Given the description of an element on the screen output the (x, y) to click on. 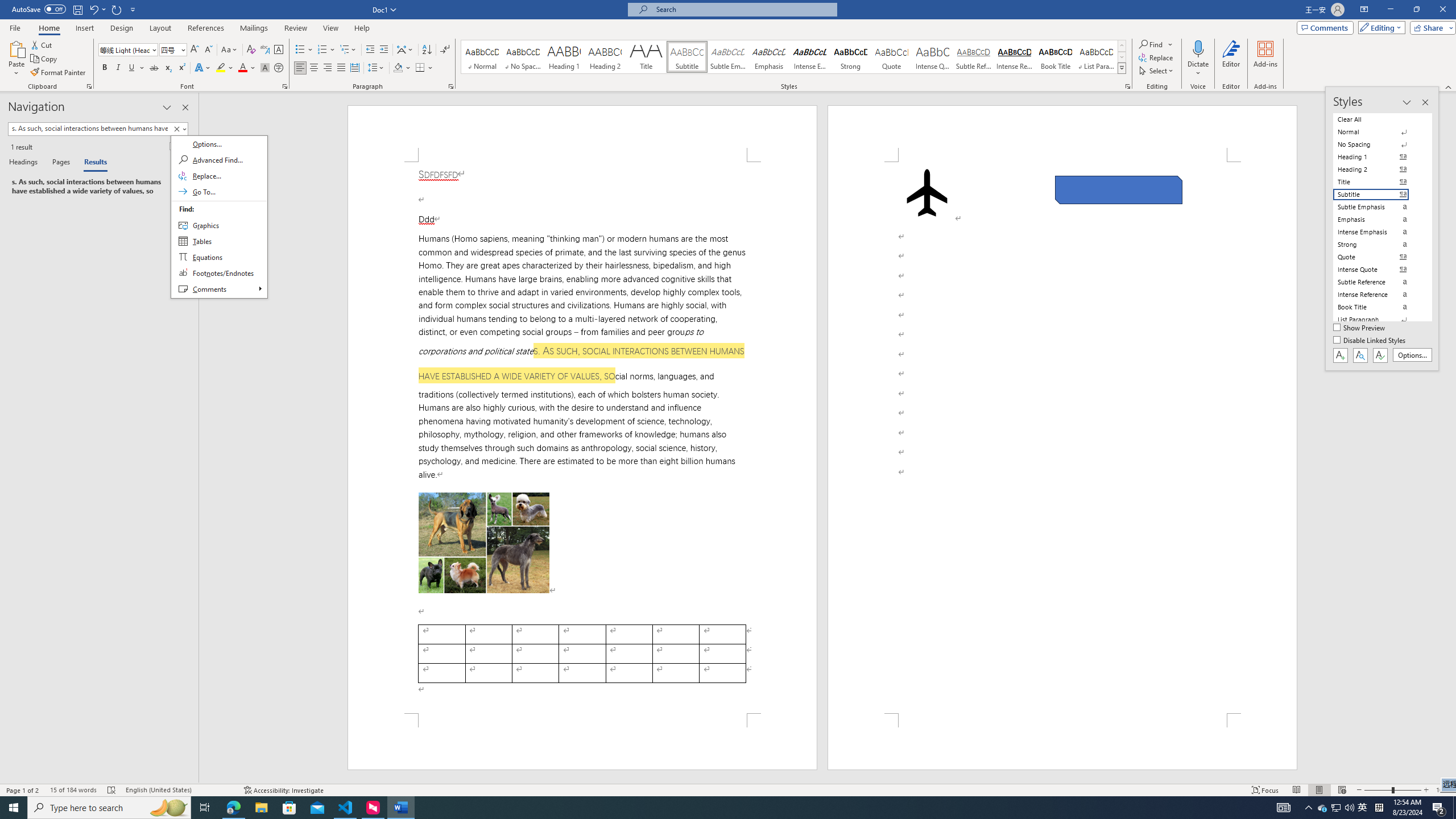
Distributed (354, 67)
Microsoft Edge - 1 running window (233, 807)
Normal (1377, 131)
Bold (104, 67)
Font... (285, 85)
Strikethrough (154, 67)
Search highlights icon opens search home window (167, 807)
